Given the description of an element on the screen output the (x, y) to click on. 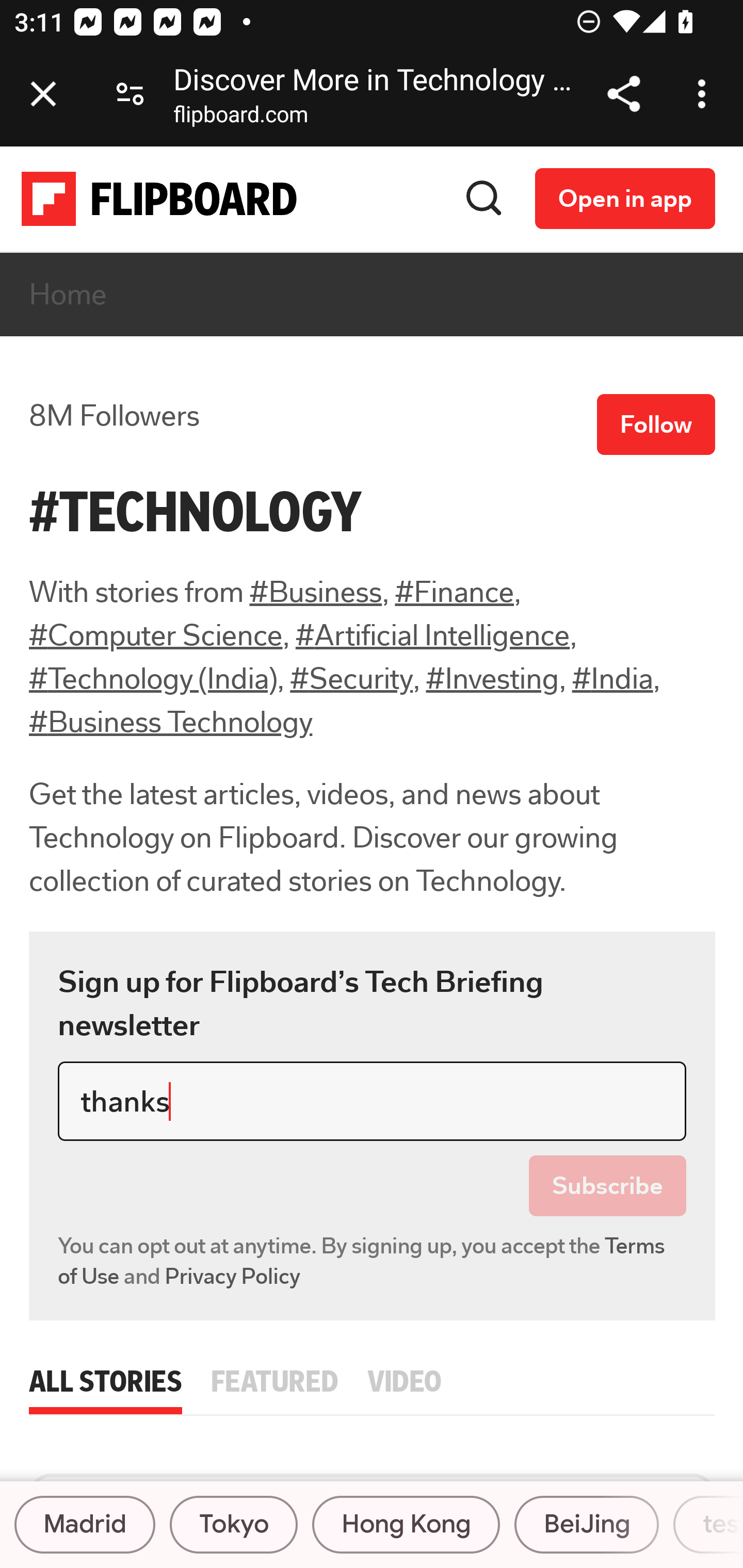
Close tab (43, 93)
Share link address (623, 93)
Customize and control Google Chrome (705, 93)
Connection is secure (129, 93)
flipboard.com (240, 117)
Open in app (625, 197)
Search (484, 198)
Home (68, 294)
Follow (655, 424)
# Business # Business (315, 592)
# Finance # Finance (453, 592)
# Computer Science # Computer Science (155, 635)
# Technology (India) # Technology (India) (152, 679)
# Security # Security (351, 679)
# Investing # Investing (491, 679)
# India # India (611, 679)
# Business Technology # Business Technology (171, 722)
thanks (372, 1102)
Subscribe (607, 1185)
Terms of Use (361, 1261)
Privacy Policy (232, 1276)
FEATURED (274, 1378)
VIDEO (404, 1378)
Madrid (84, 1524)
Tokyo (233, 1524)
Hong Kong (406, 1524)
BeiJing (586, 1524)
